Given the description of an element on the screen output the (x, y) to click on. 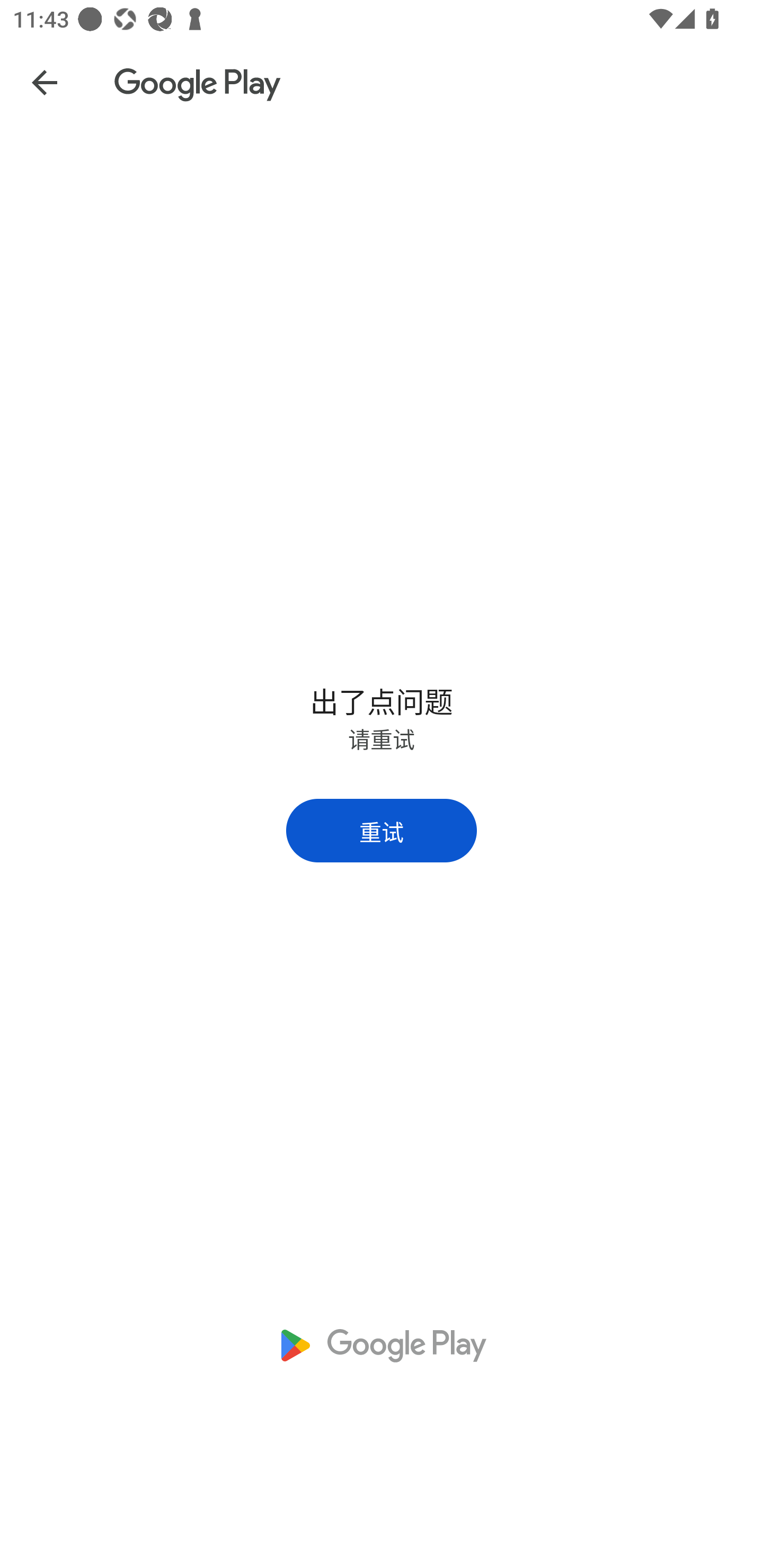
转到上一层级 (44, 81)
重试 (381, 829)
